Given the description of an element on the screen output the (x, y) to click on. 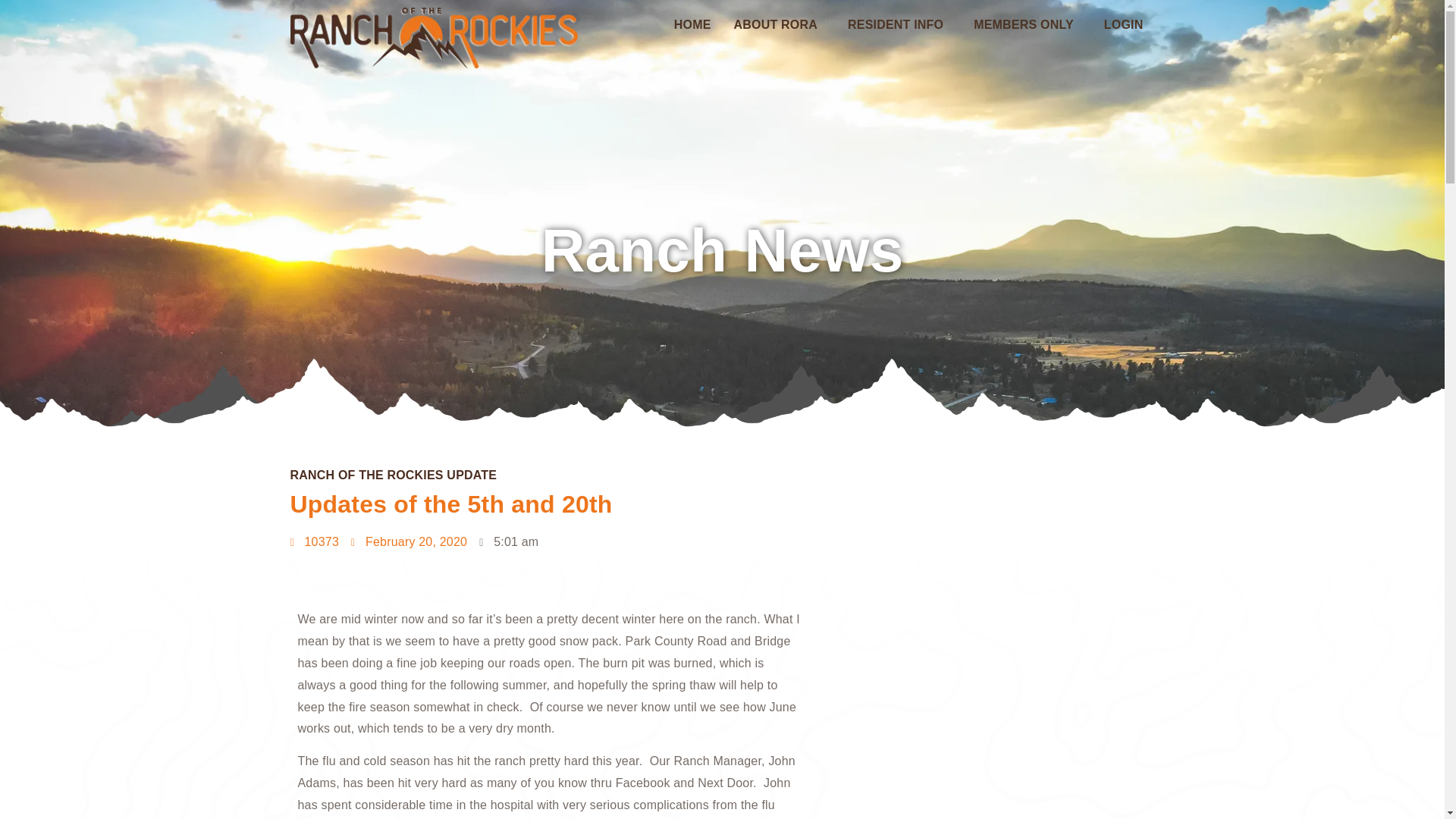
RESIDENT INFO (898, 24)
HOME (692, 24)
ABOUT RORA (778, 24)
February 20, 2020 (408, 542)
10373 (314, 542)
LOGIN (1123, 24)
MEMBERS ONLY (1027, 24)
